Given the description of an element on the screen output the (x, y) to click on. 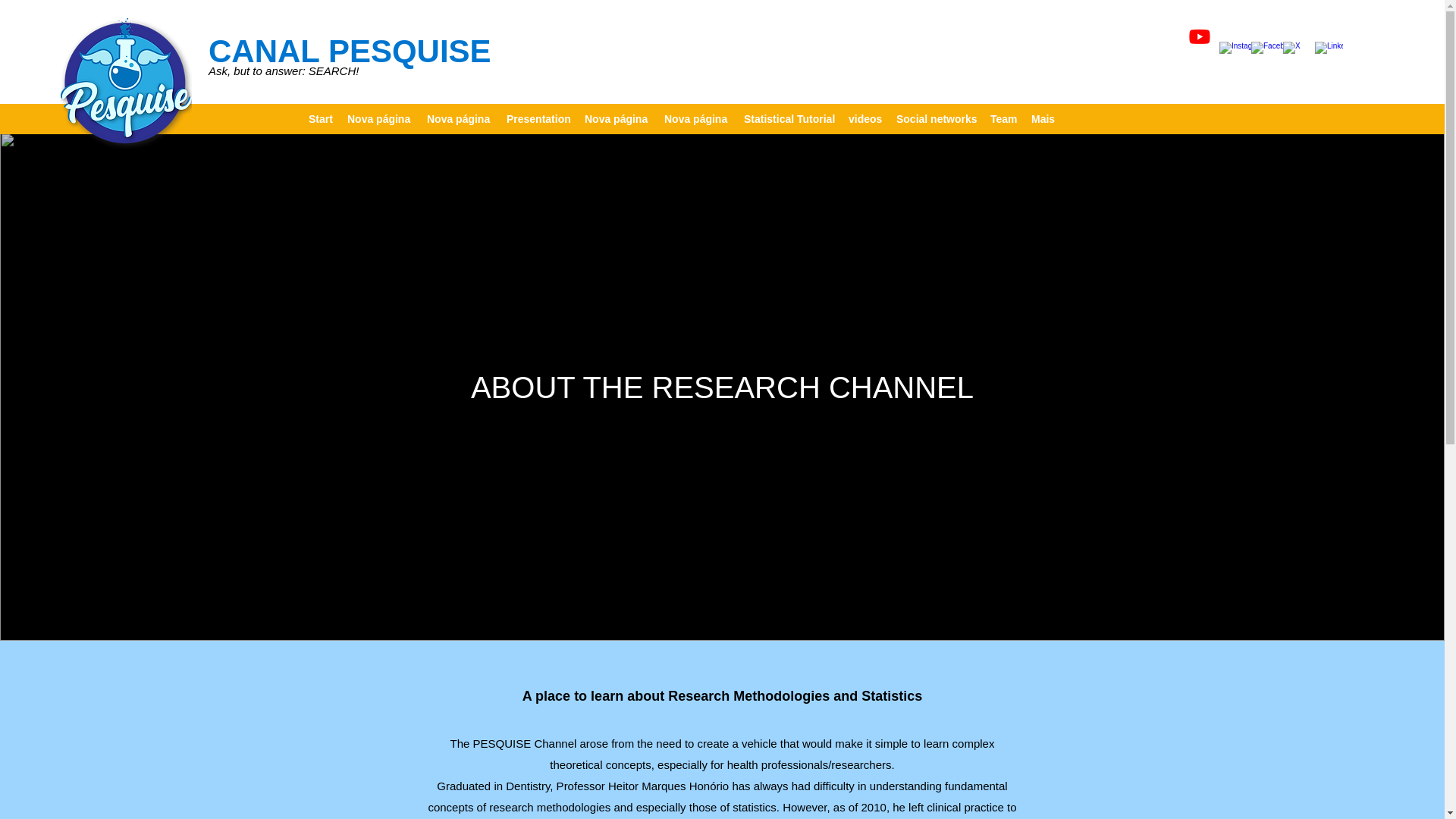
Presentation (537, 118)
Team (1002, 118)
Statistical Tutorial (788, 118)
Social networks (935, 118)
videos (864, 118)
CANAL PESQUISE (350, 50)
Start (320, 118)
